Given the description of an element on the screen output the (x, y) to click on. 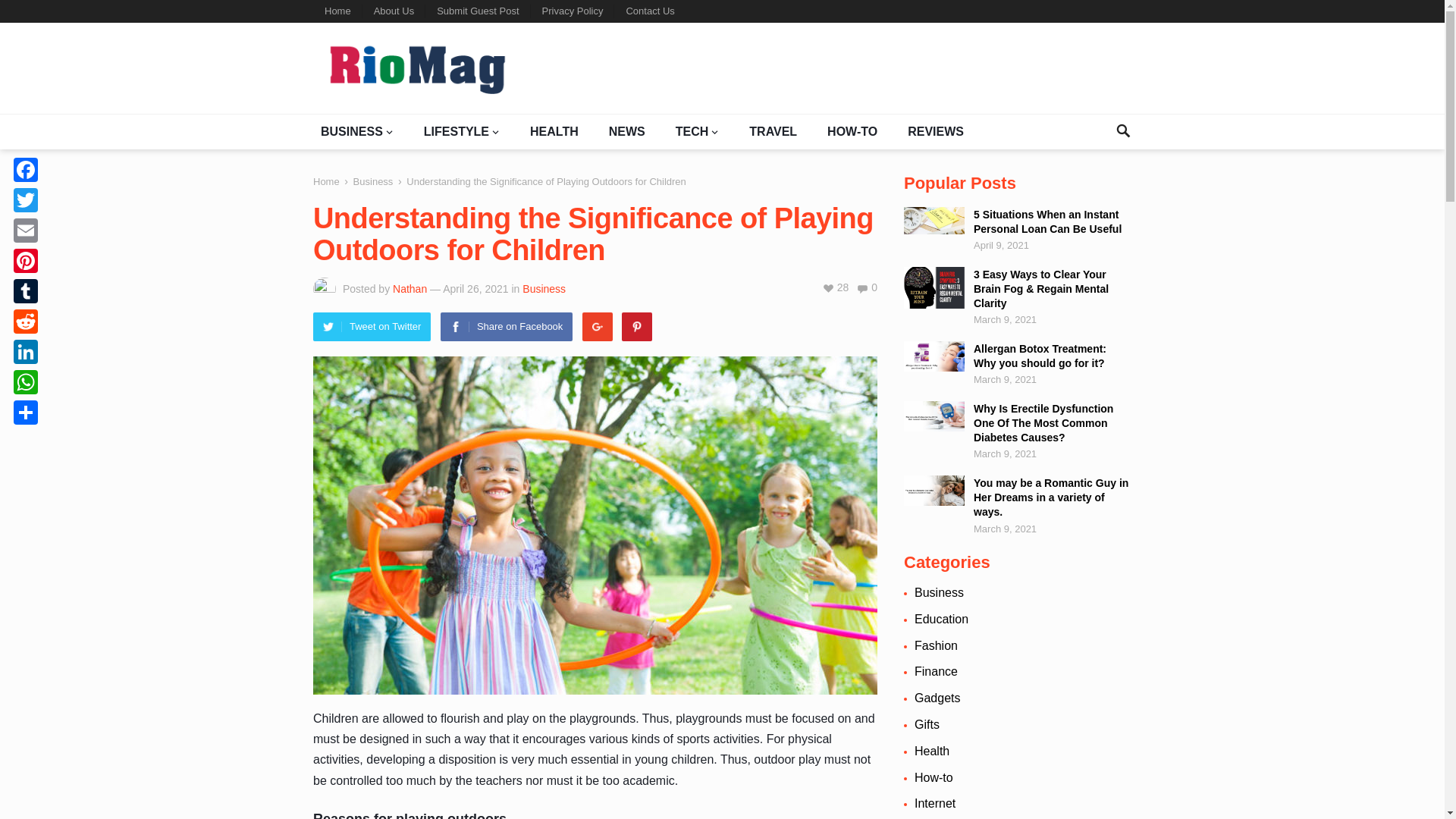
REVIEWS (935, 131)
BUSINESS (357, 131)
TECH (697, 131)
TRAVEL (773, 131)
View all posts in Business (544, 288)
Submit Guest Post (477, 11)
HOW-TO (852, 131)
Home (337, 11)
HEALTH (554, 131)
Posts by Nathan (409, 288)
NEWS (626, 131)
LIFESTYLE (461, 131)
About Us (393, 11)
Like (835, 287)
Nathan (409, 288)
